Given the description of an element on the screen output the (x, y) to click on. 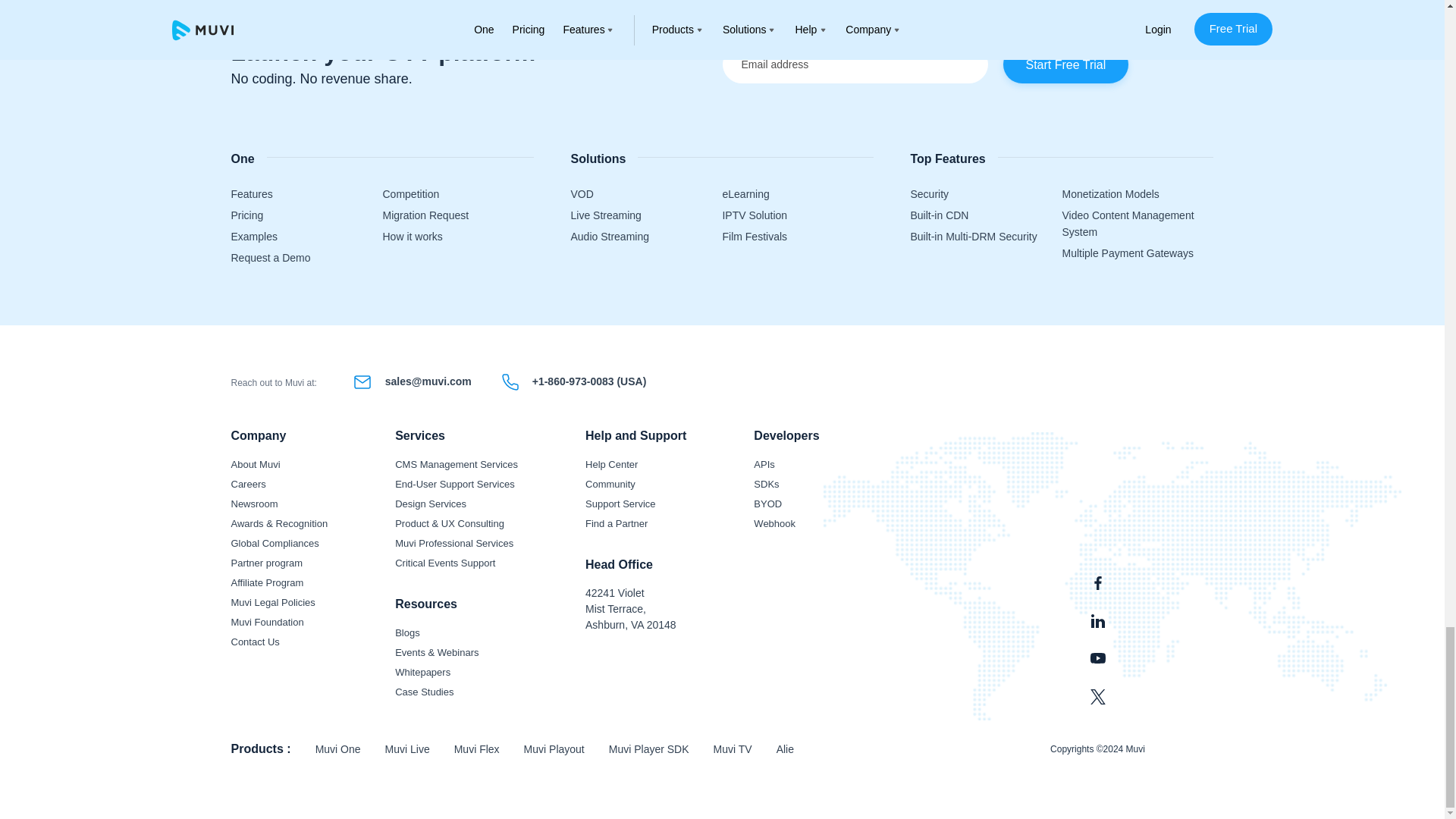
Start Free Trial (1065, 64)
